Given the description of an element on the screen output the (x, y) to click on. 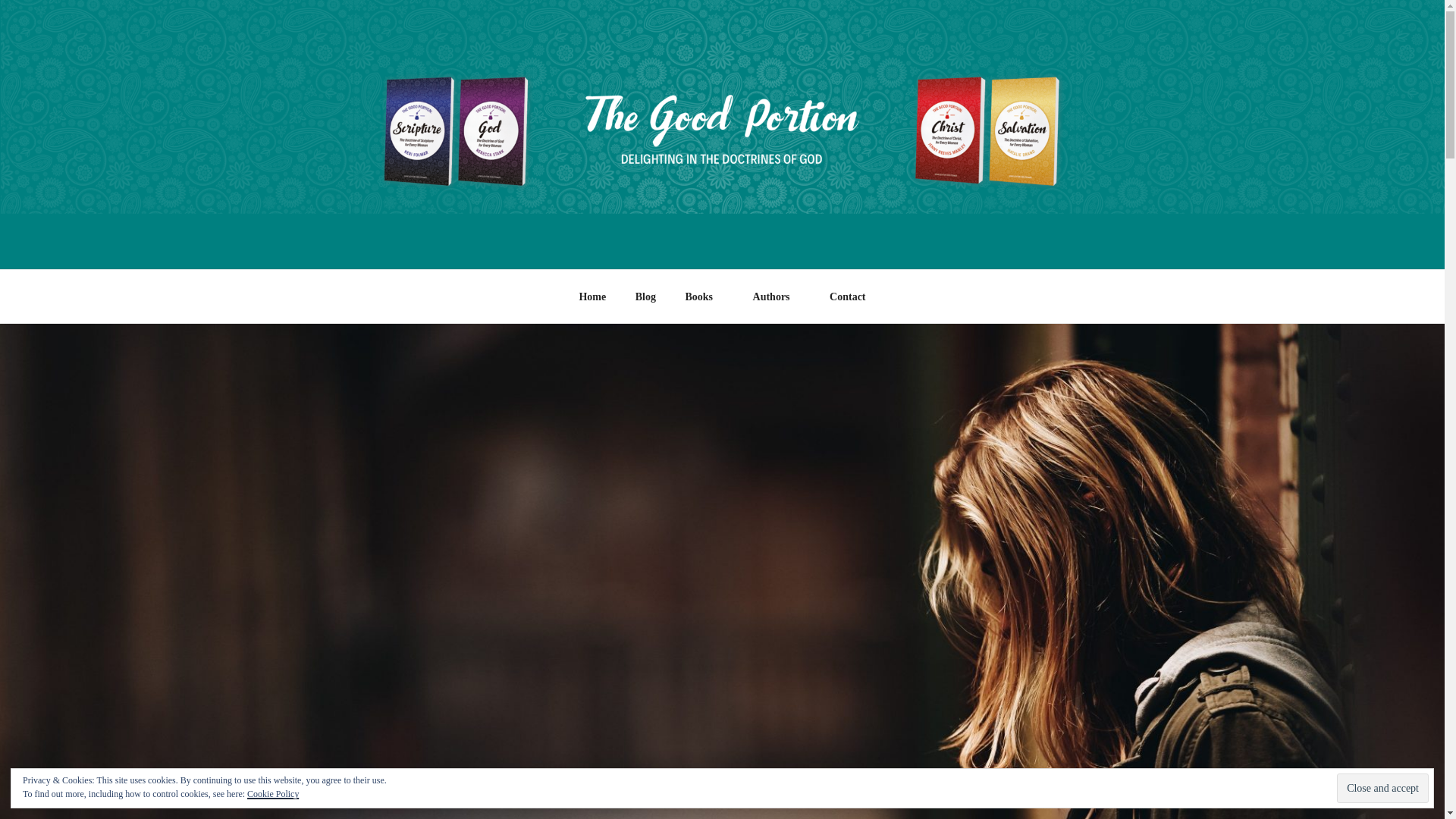
THE GOOD PORTION (536, 214)
Home (593, 296)
Close and accept (1382, 788)
Contact (847, 296)
Authors (776, 296)
Books (703, 296)
Blog (644, 296)
